Given the description of an element on the screen output the (x, y) to click on. 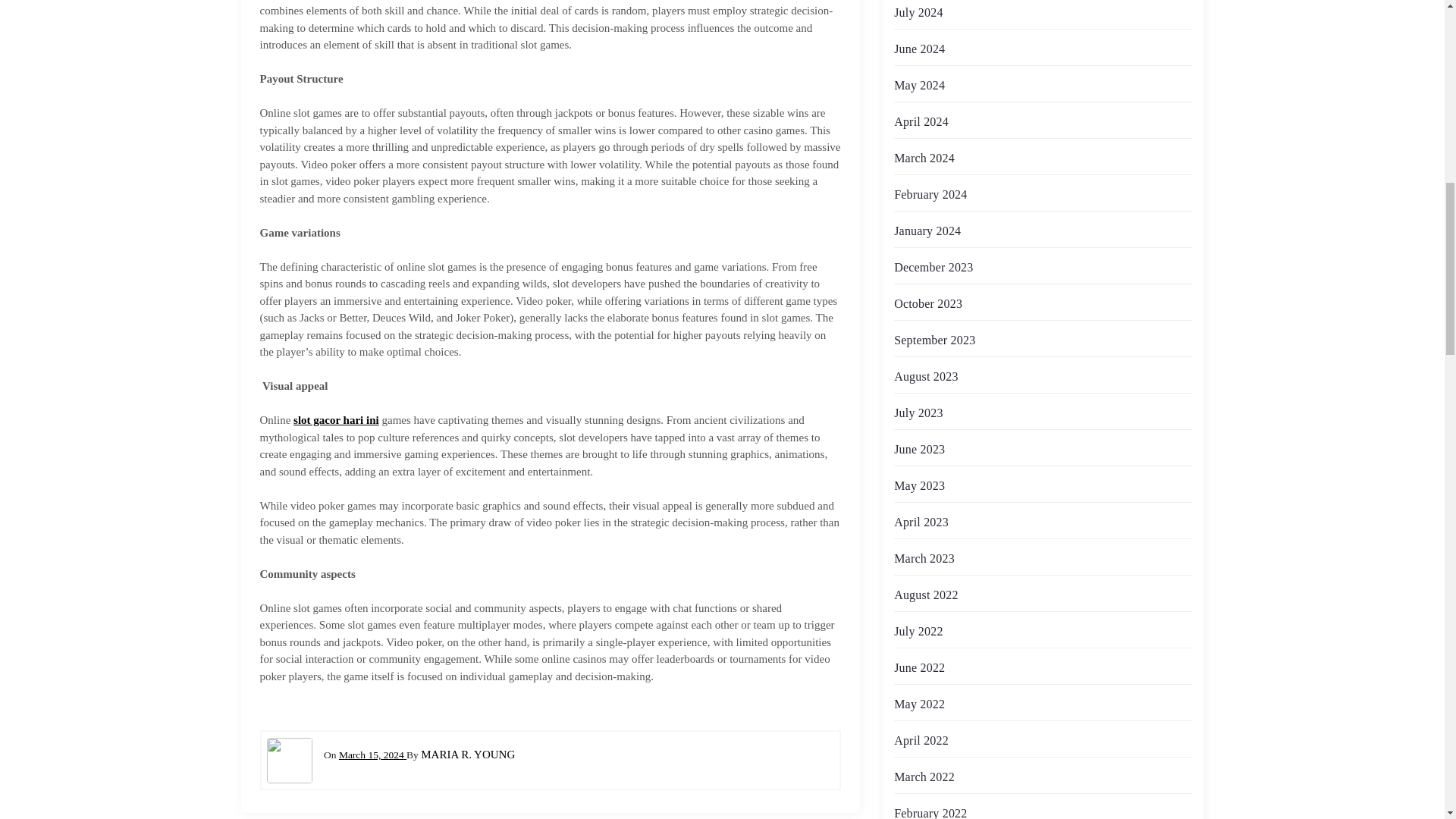
slot gacor hari ini (336, 419)
March 15, 2024 (372, 754)
MARIA R. YOUNG (467, 754)
